Given the description of an element on the screen output the (x, y) to click on. 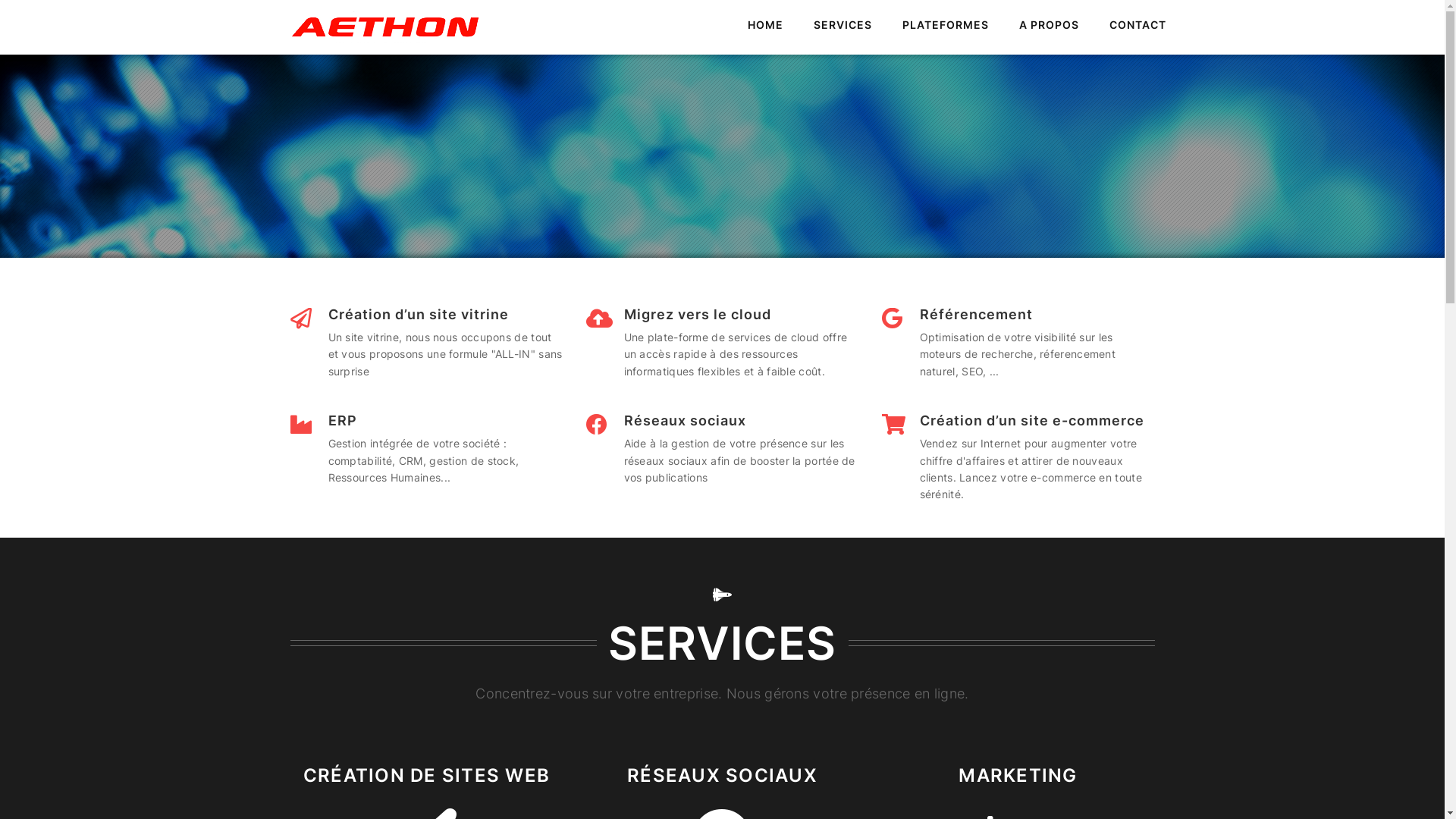
CONTACT Element type: text (1136, 25)
HOME Element type: text (765, 25)
PLATEFORMES Element type: text (945, 25)
A PROPOS Element type: text (1049, 25)
SERVICES Element type: text (841, 25)
